Given the description of an element on the screen output the (x, y) to click on. 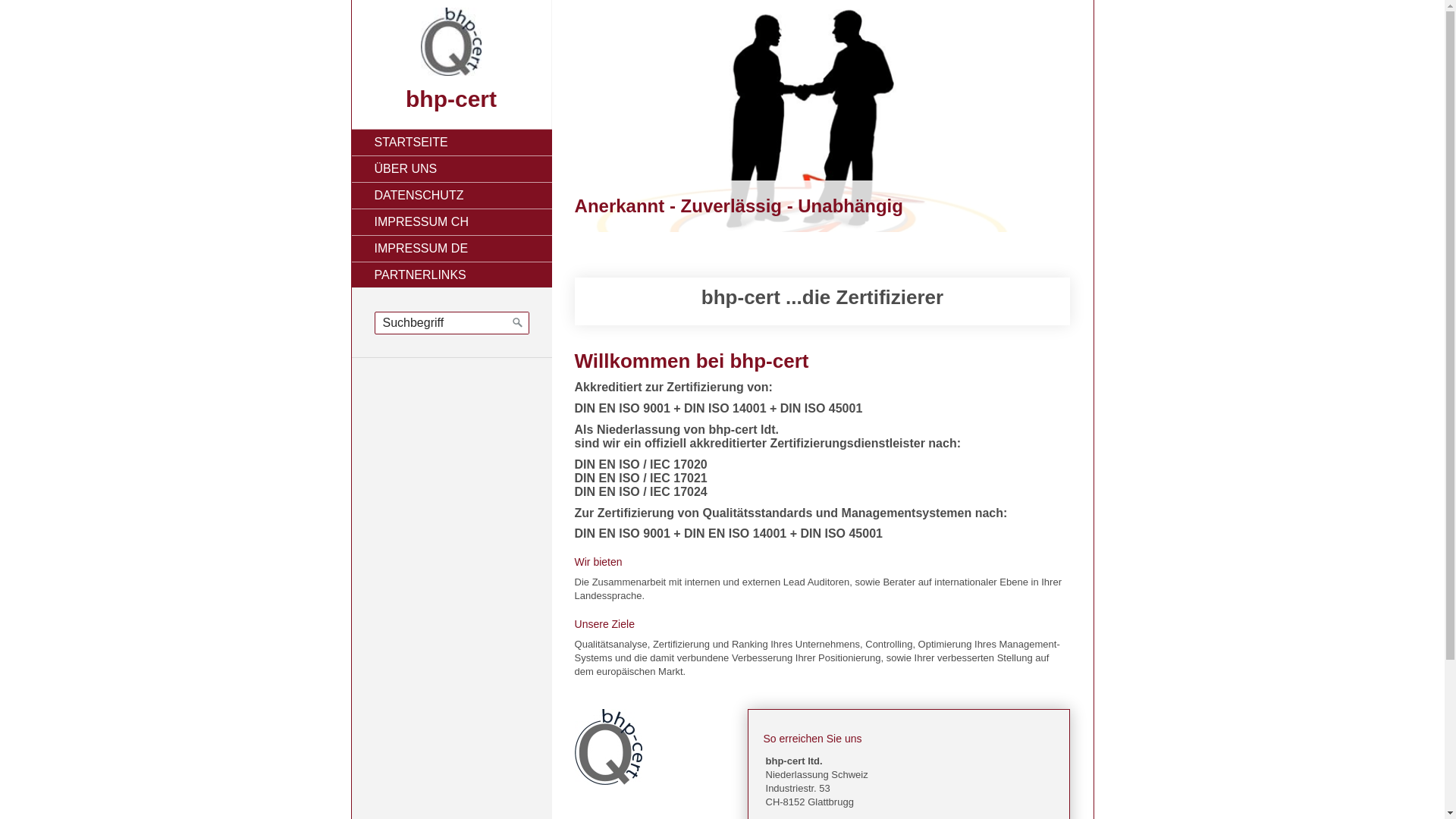
STARTSEITE Element type: text (451, 141)
1 Element type: text (579, 20)
 &nbsp; Element type: hover (608, 746)
bhp-cert Element type: text (450, 98)
IMPRESSUM DE Element type: text (451, 248)
2 Element type: text (594, 20)
PARTNERLINKS Element type: text (451, 274)
IMPRESSUM CH Element type: text (451, 221)
DATENSCHUTZ Element type: text (451, 195)
